Given the description of an element on the screen output the (x, y) to click on. 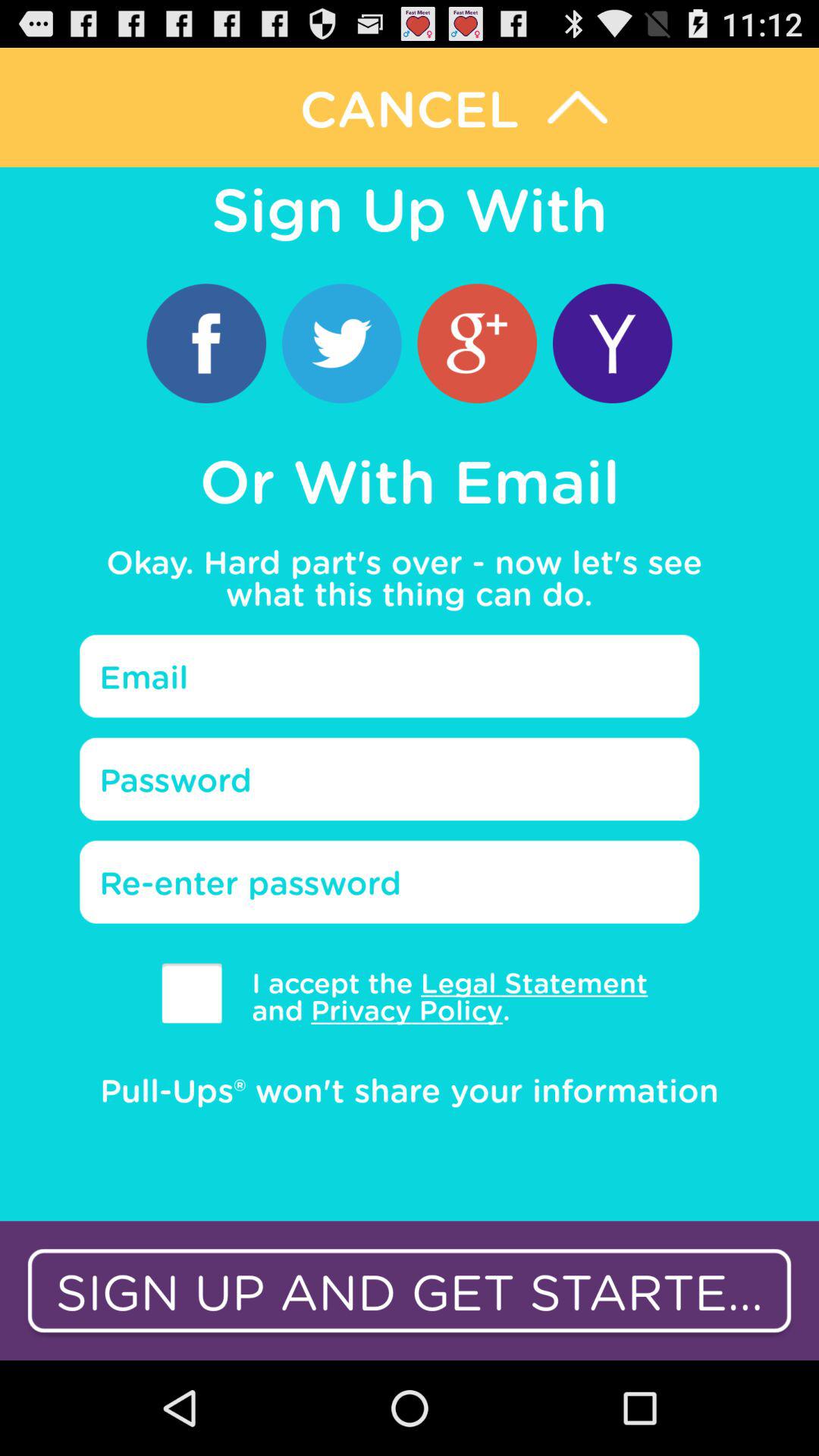
type your password (389, 778)
